Given the description of an element on the screen output the (x, y) to click on. 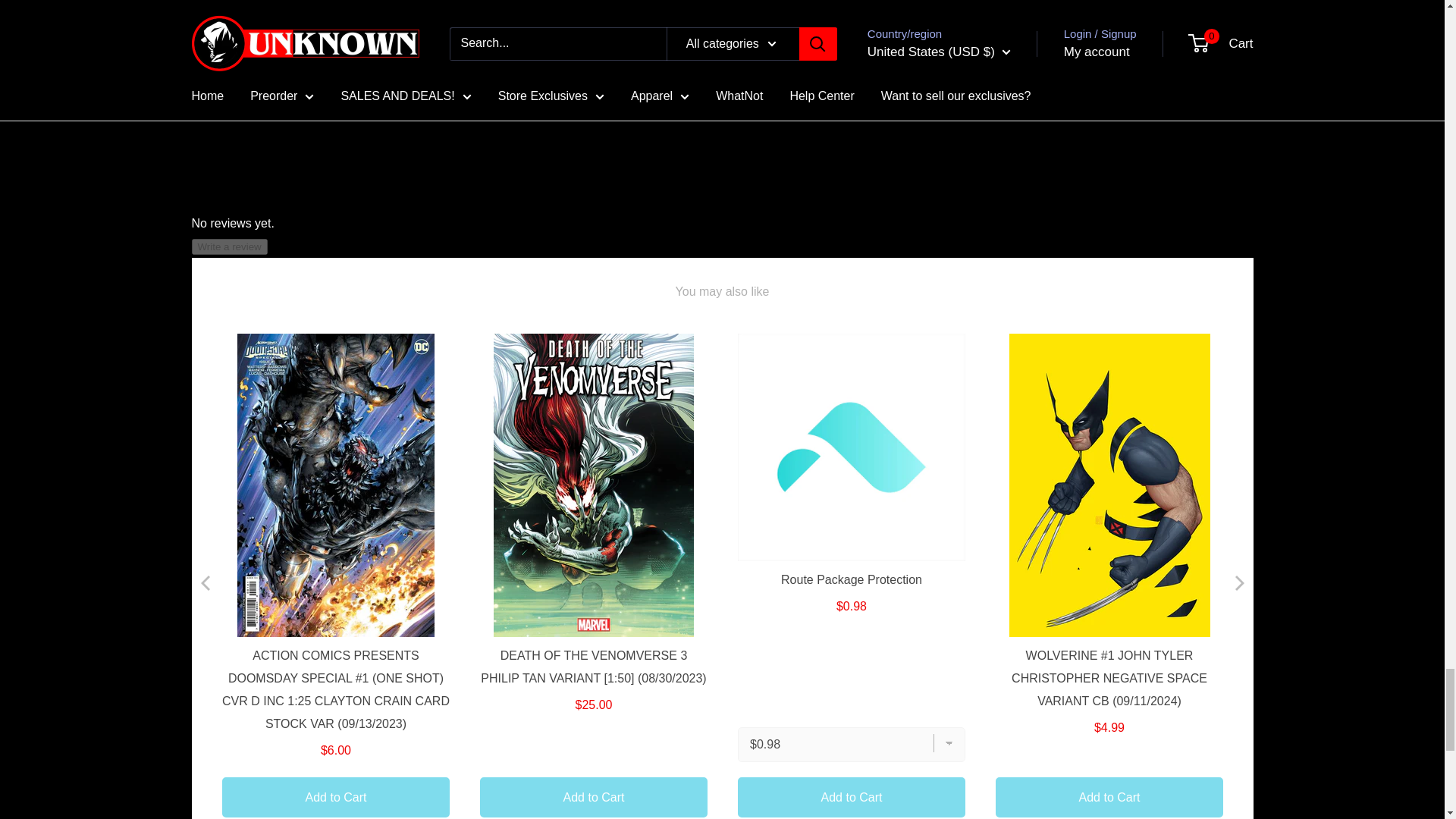
Select product variant (849, 743)
